Given the description of an element on the screen output the (x, y) to click on. 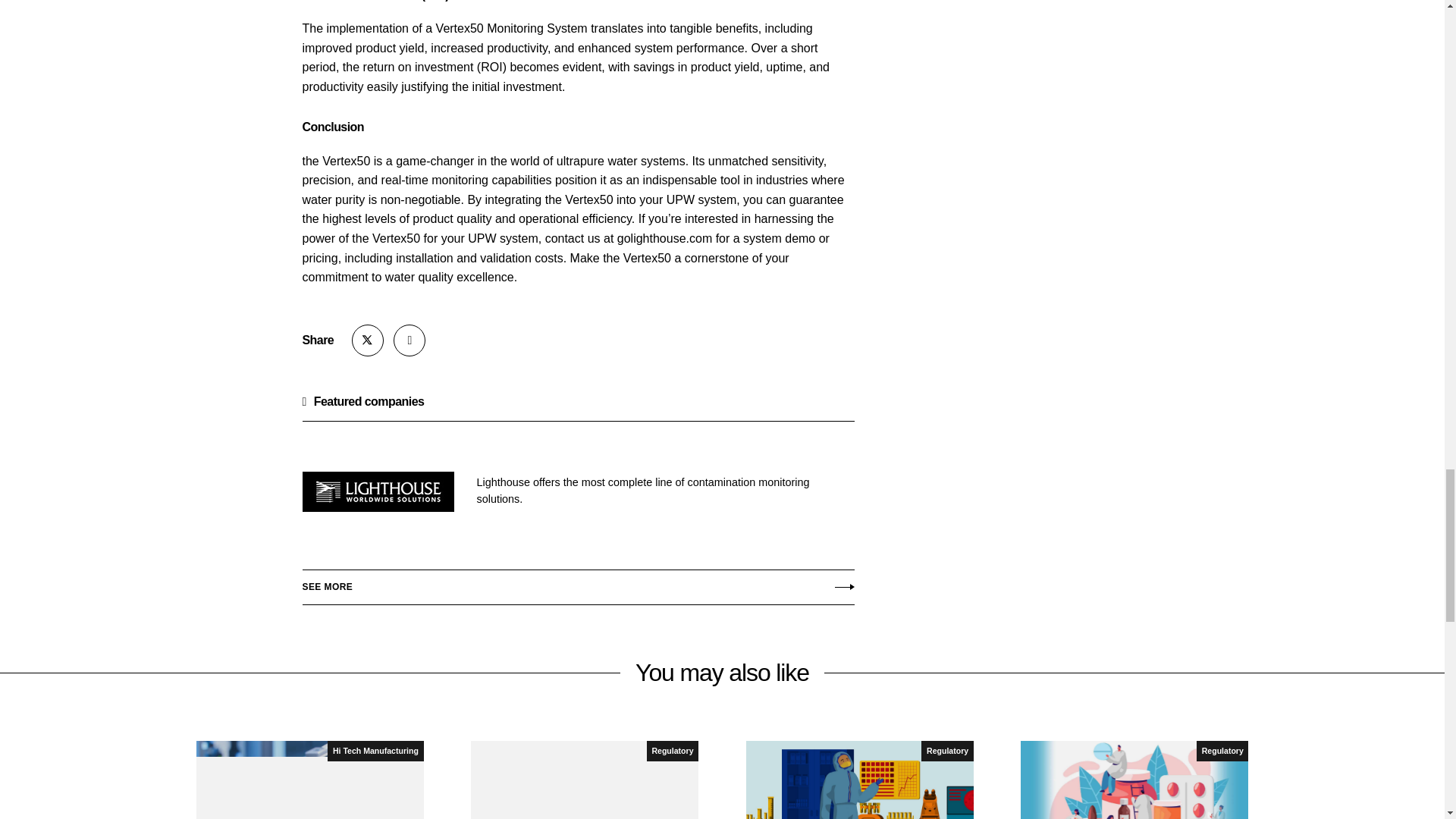
Follow Cleanroom Technology on X (368, 340)
Follow Cleanroom Technology on LinkedIn (409, 340)
SEE MORE (577, 583)
LinkedIn (409, 340)
X (368, 340)
